Given the description of an element on the screen output the (x, y) to click on. 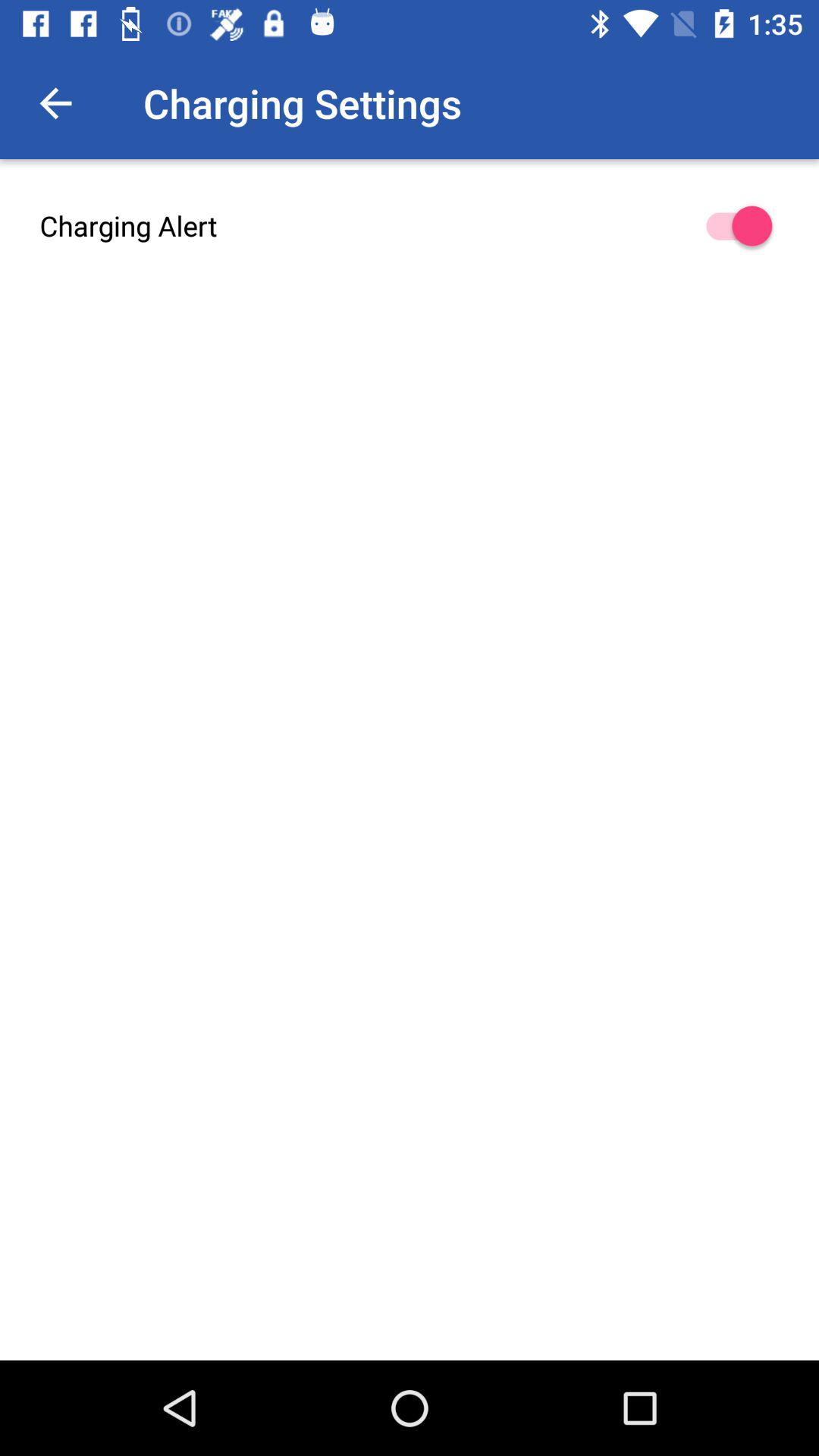
scroll to the charging alert item (409, 226)
